Given the description of an element on the screen output the (x, y) to click on. 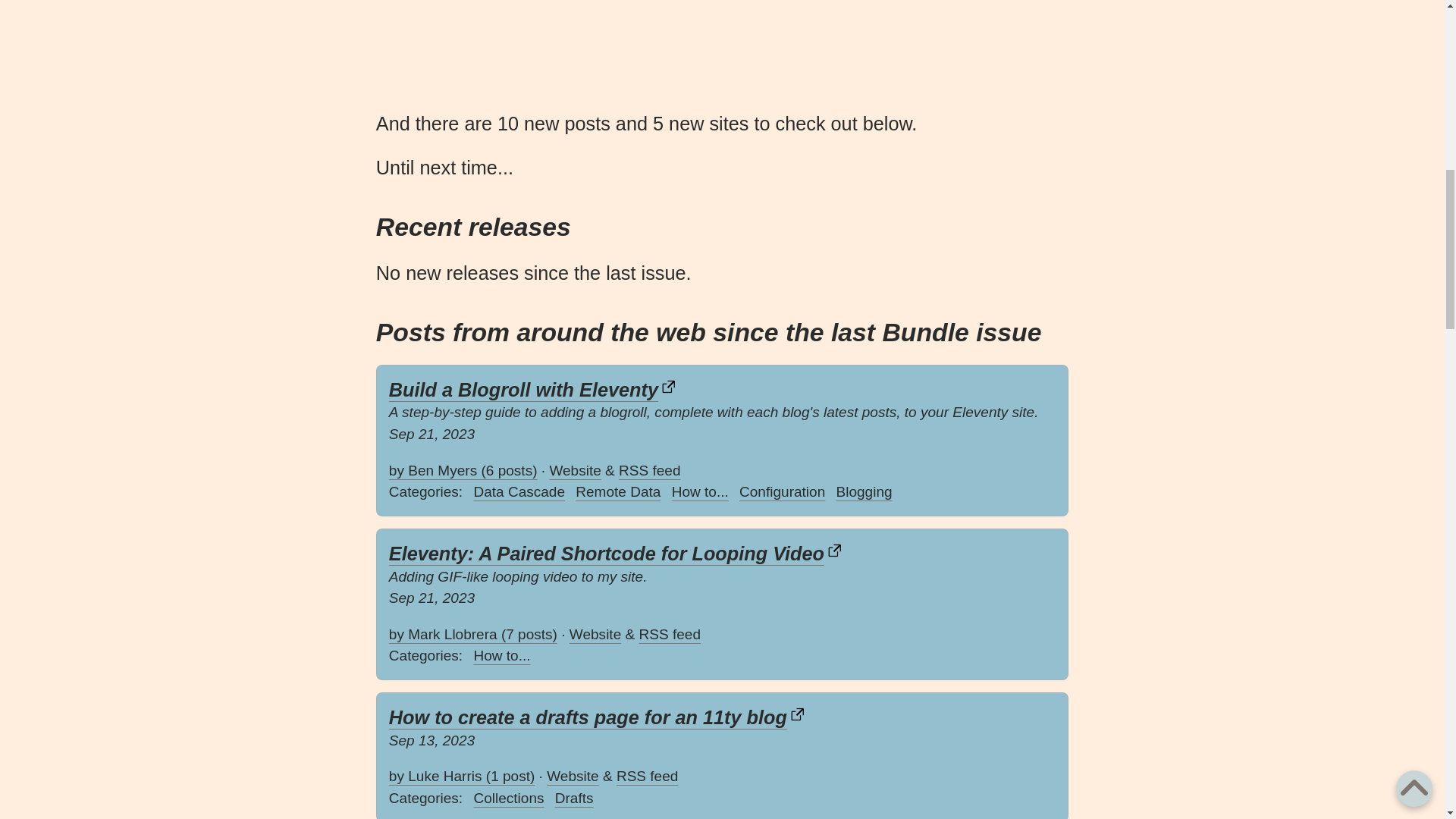
How to... (700, 492)
Blogging (863, 492)
Data Cascade (518, 492)
RSS feed (646, 775)
How to create a drafts page for an 11ty blog (597, 717)
RSS feed (648, 470)
Collections (508, 798)
Website (573, 470)
Website (595, 634)
Eleventy: A Paired Shortcode for Looping Video (615, 553)
Configuration (782, 492)
Build a Blogroll with Eleventy (532, 389)
Drafts (574, 798)
YouTube video player (489, 44)
Remote Data (618, 492)
